Given the description of an element on the screen output the (x, y) to click on. 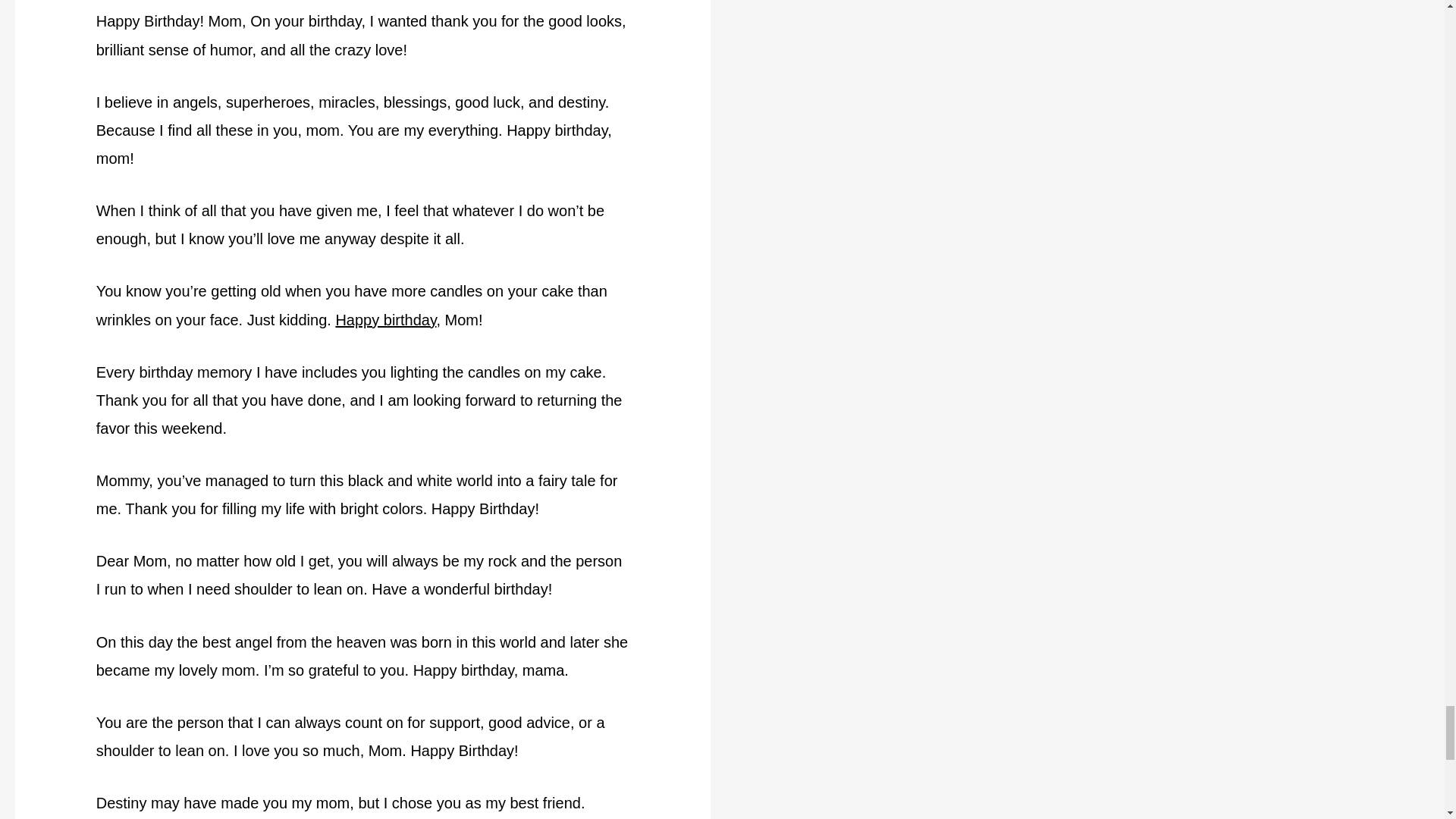
Happy birthday (384, 319)
